Given the description of an element on the screen output the (x, y) to click on. 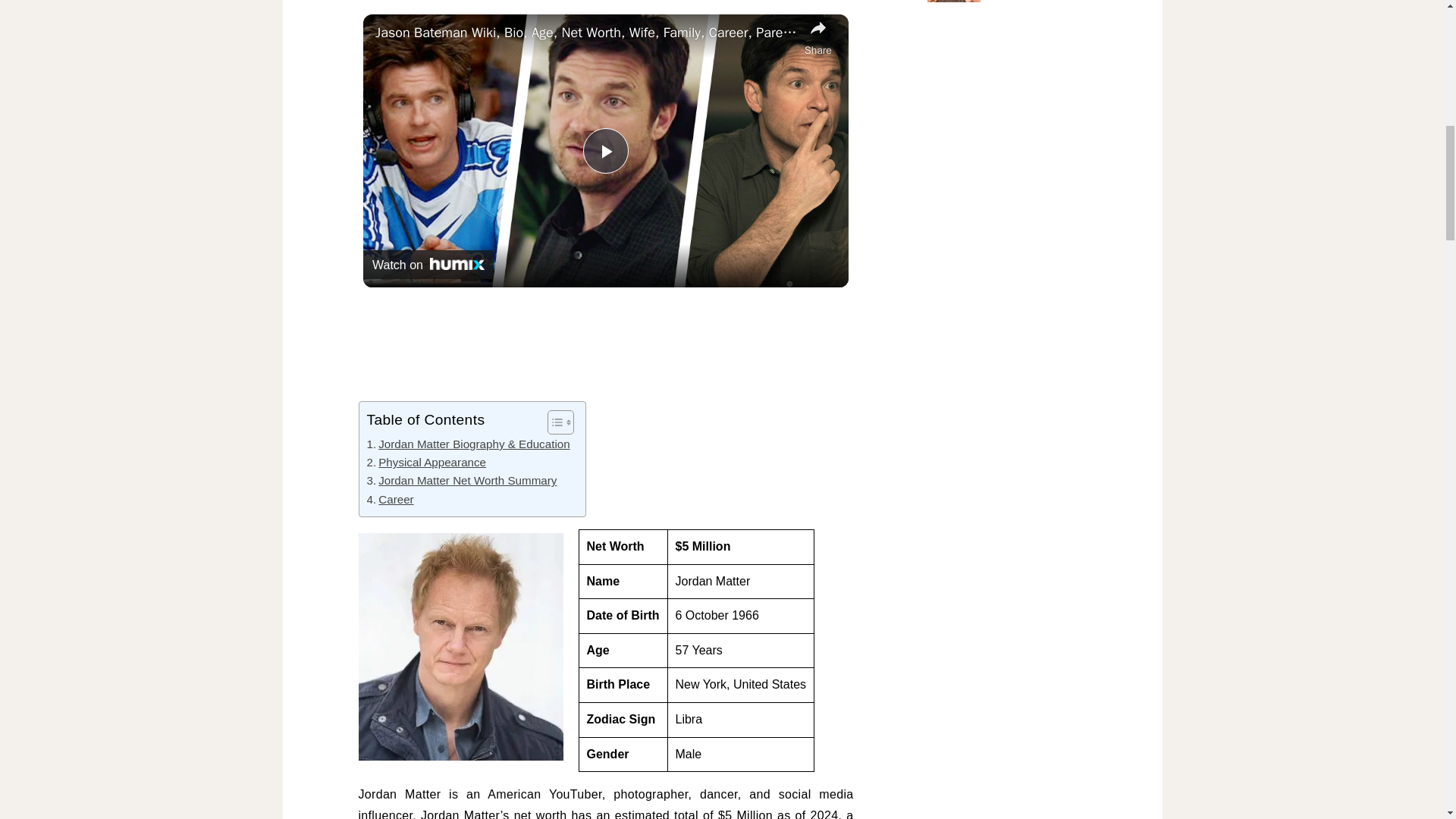
Play Video (605, 150)
Jordan Matter Net Worth Summary (461, 480)
Share (818, 37)
Physical Appearance (426, 462)
Watch on (427, 264)
share (818, 37)
Career (389, 499)
Play Video (605, 150)
